Given the description of an element on the screen output the (x, y) to click on. 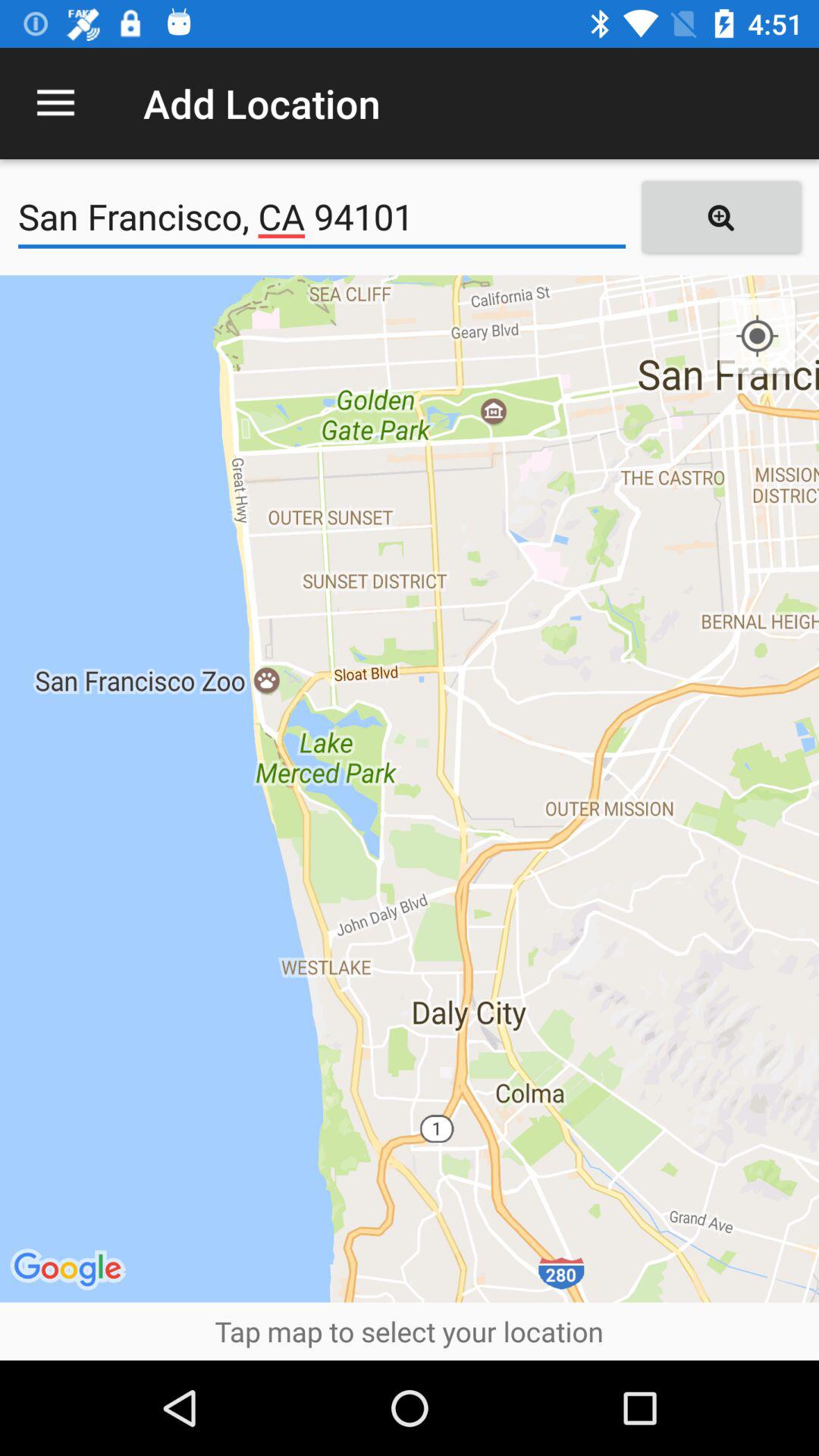
open the icon at the center (409, 788)
